Given the description of an element on the screen output the (x, y) to click on. 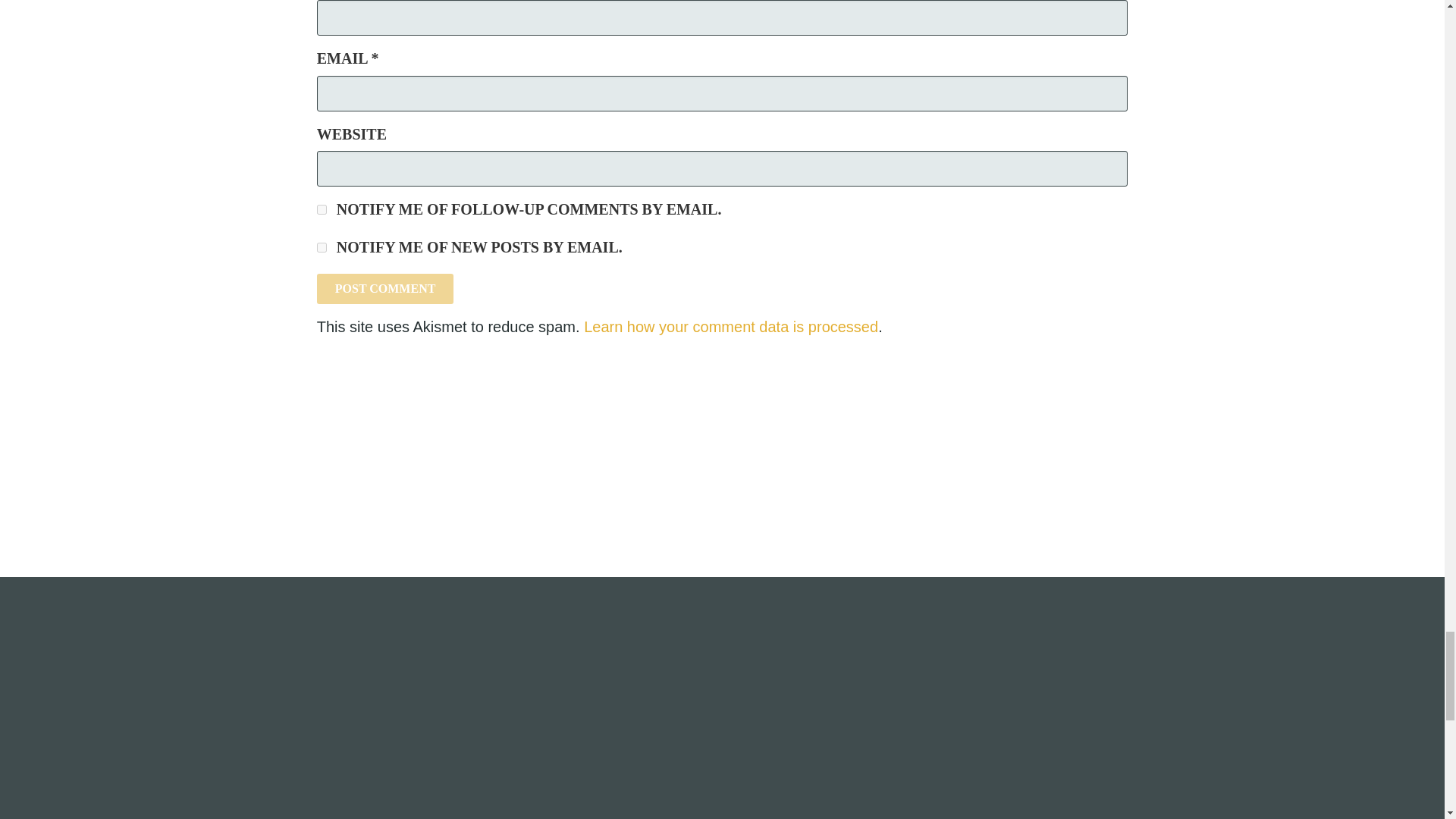
subscribe (321, 209)
Post Comment (385, 288)
subscribe (321, 247)
